Given the description of an element on the screen output the (x, y) to click on. 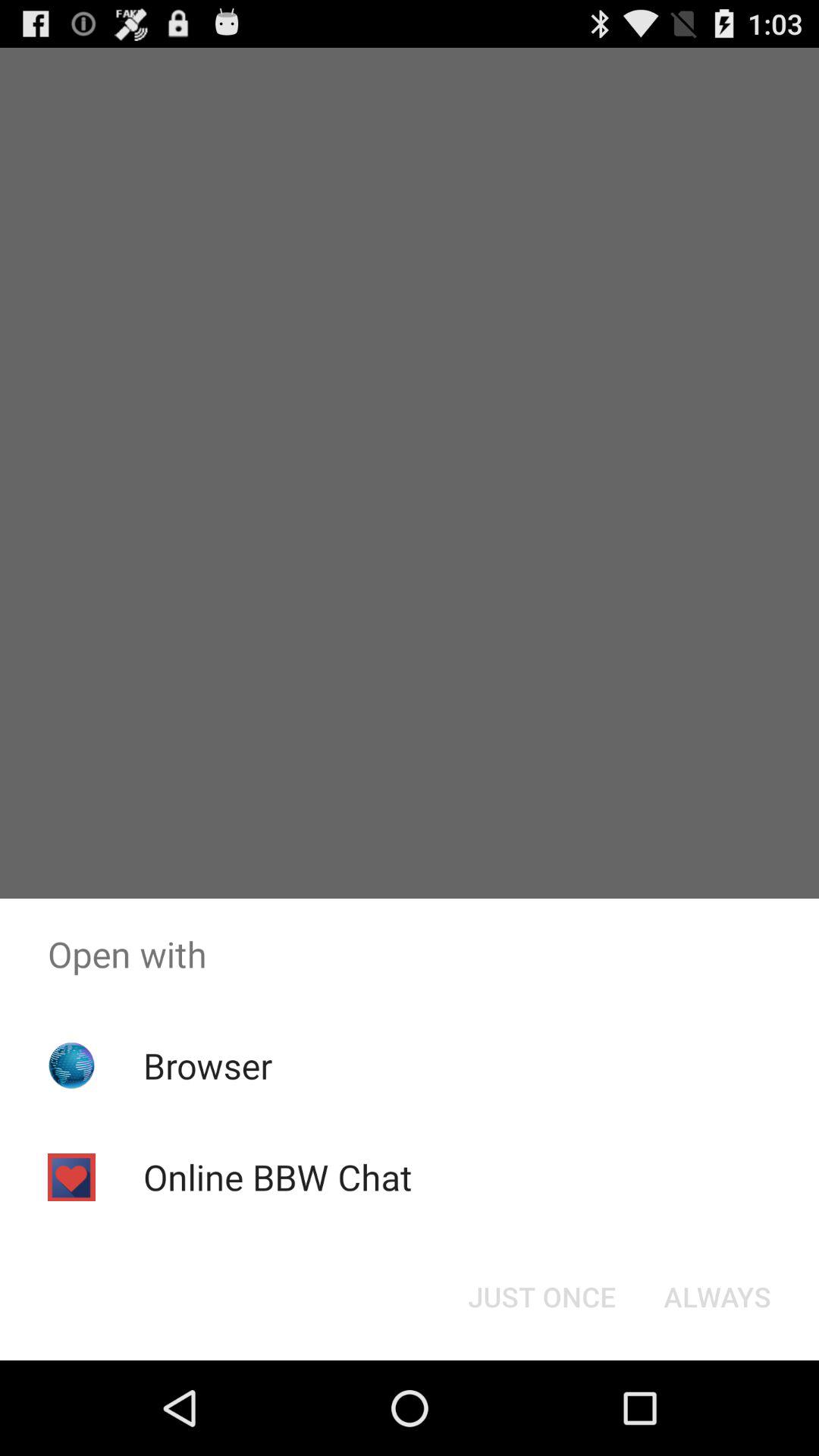
select the item to the right of the just once (717, 1296)
